Given the description of an element on the screen output the (x, y) to click on. 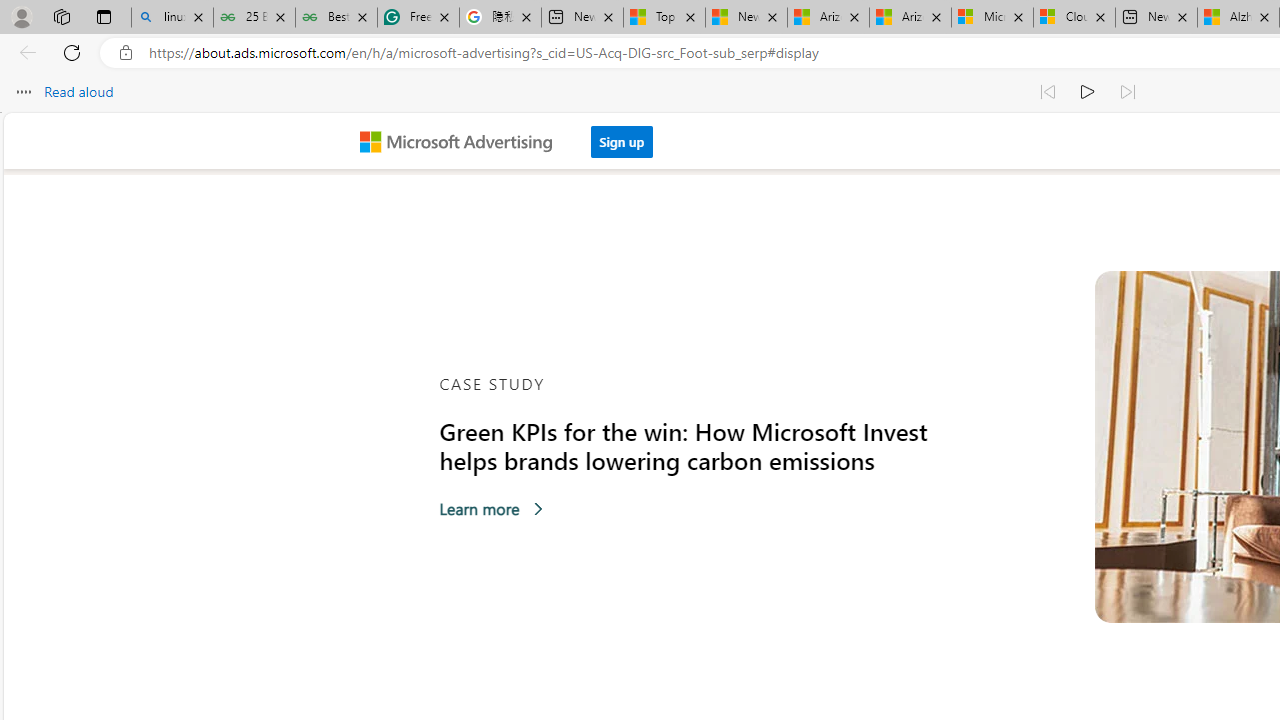
Sign up (622, 141)
Cloud Computing Services | Microsoft Azure (1074, 17)
Learn more (491, 508)
News - MSN (746, 17)
Sign up (621, 136)
Free AI Writing Assistance for Students | Grammarly (418, 17)
Microsoft Advertising (463, 140)
